Given the description of an element on the screen output the (x, y) to click on. 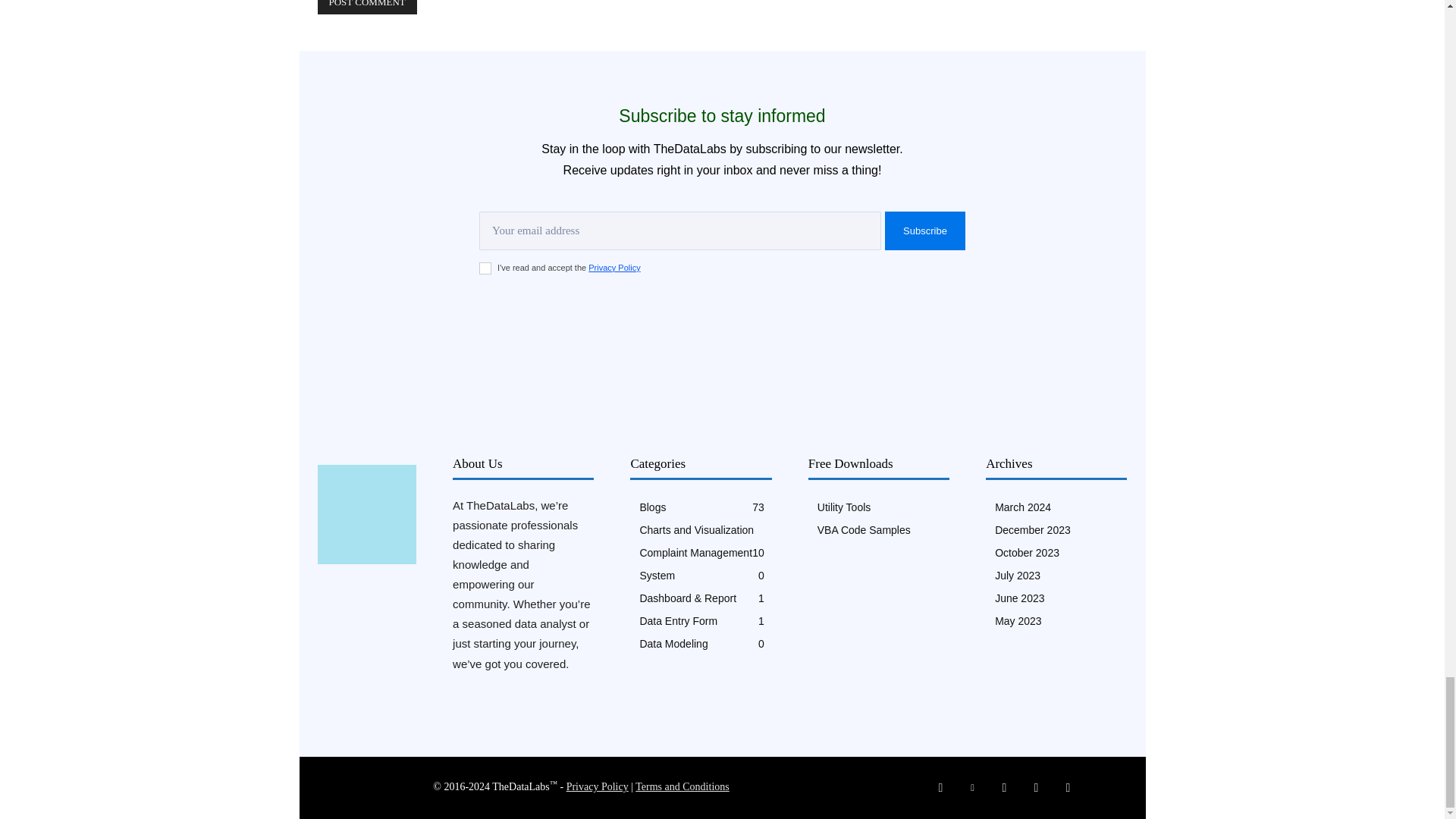
Post Comment (366, 7)
